Given the description of an element on the screen output the (x, y) to click on. 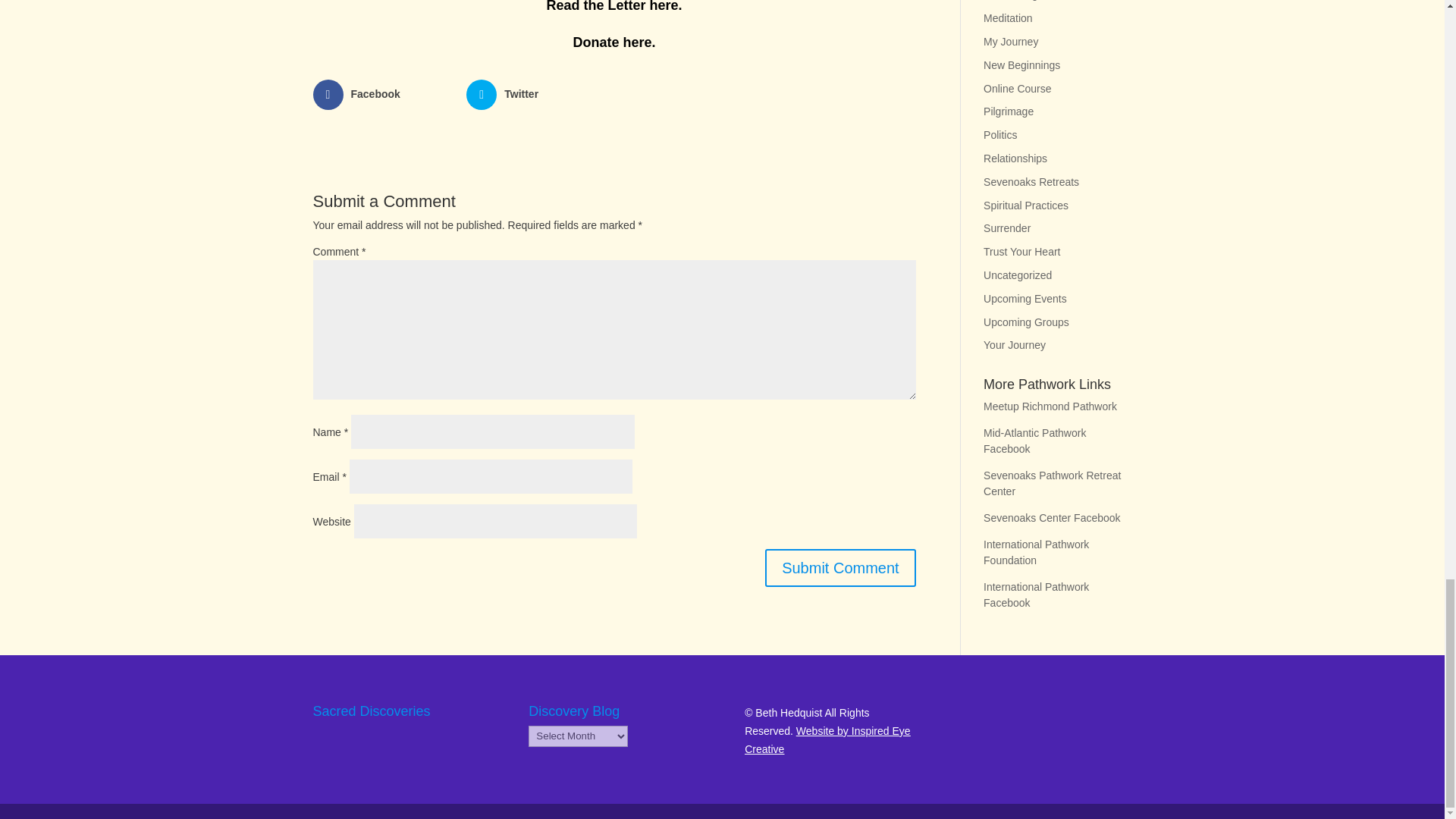
here. (638, 42)
Submit Comment (840, 567)
Twitter (536, 94)
Facebook (383, 94)
Submit Comment (840, 567)
here. (665, 6)
